Given the description of an element on the screen output the (x, y) to click on. 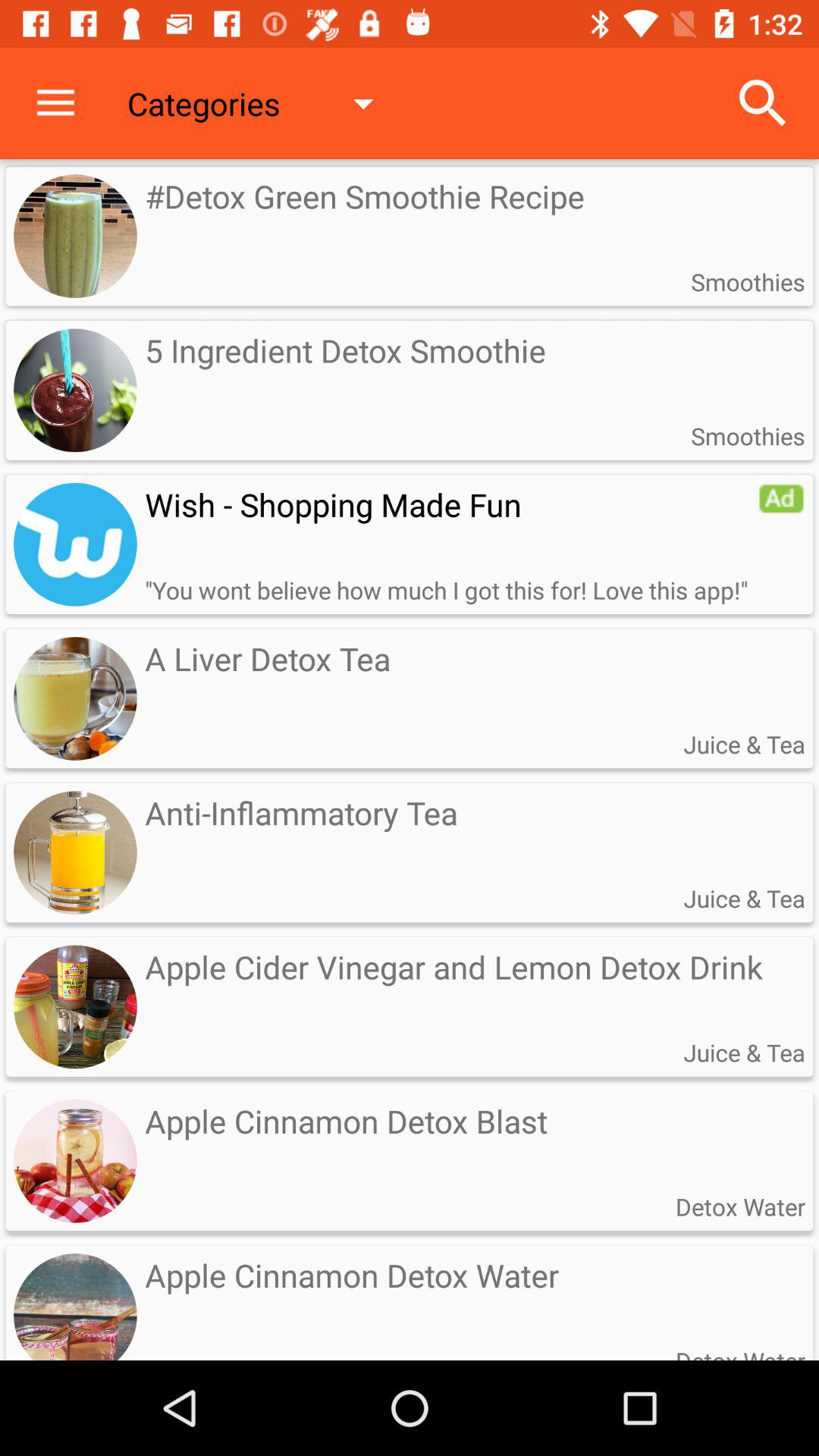
redirect to advertisement website (781, 498)
